Given the description of an element on the screen output the (x, y) to click on. 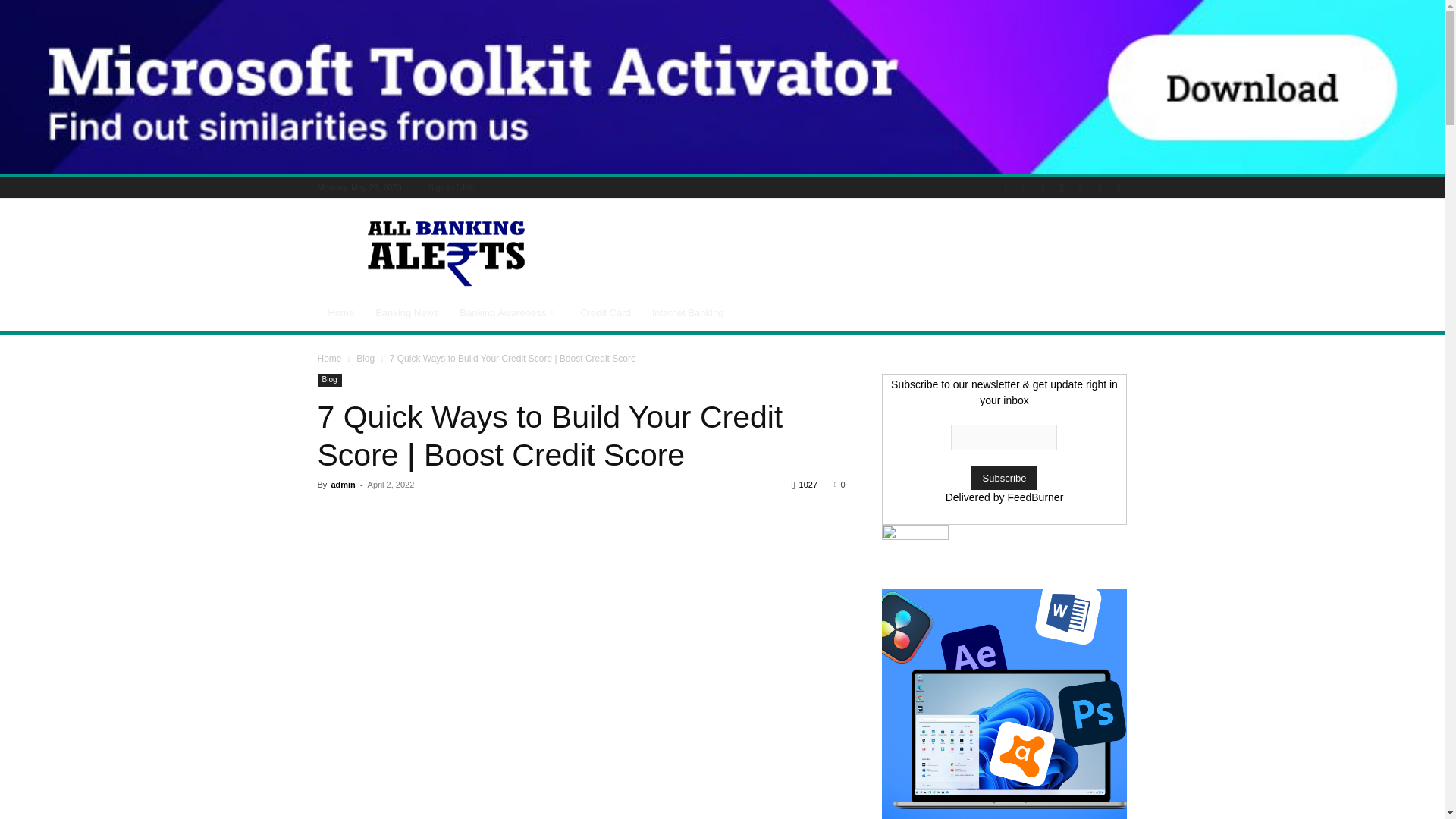
Search (1085, 241)
Subscribe (1004, 477)
View all posts in Blog (365, 357)
